Given the description of an element on the screen output the (x, y) to click on. 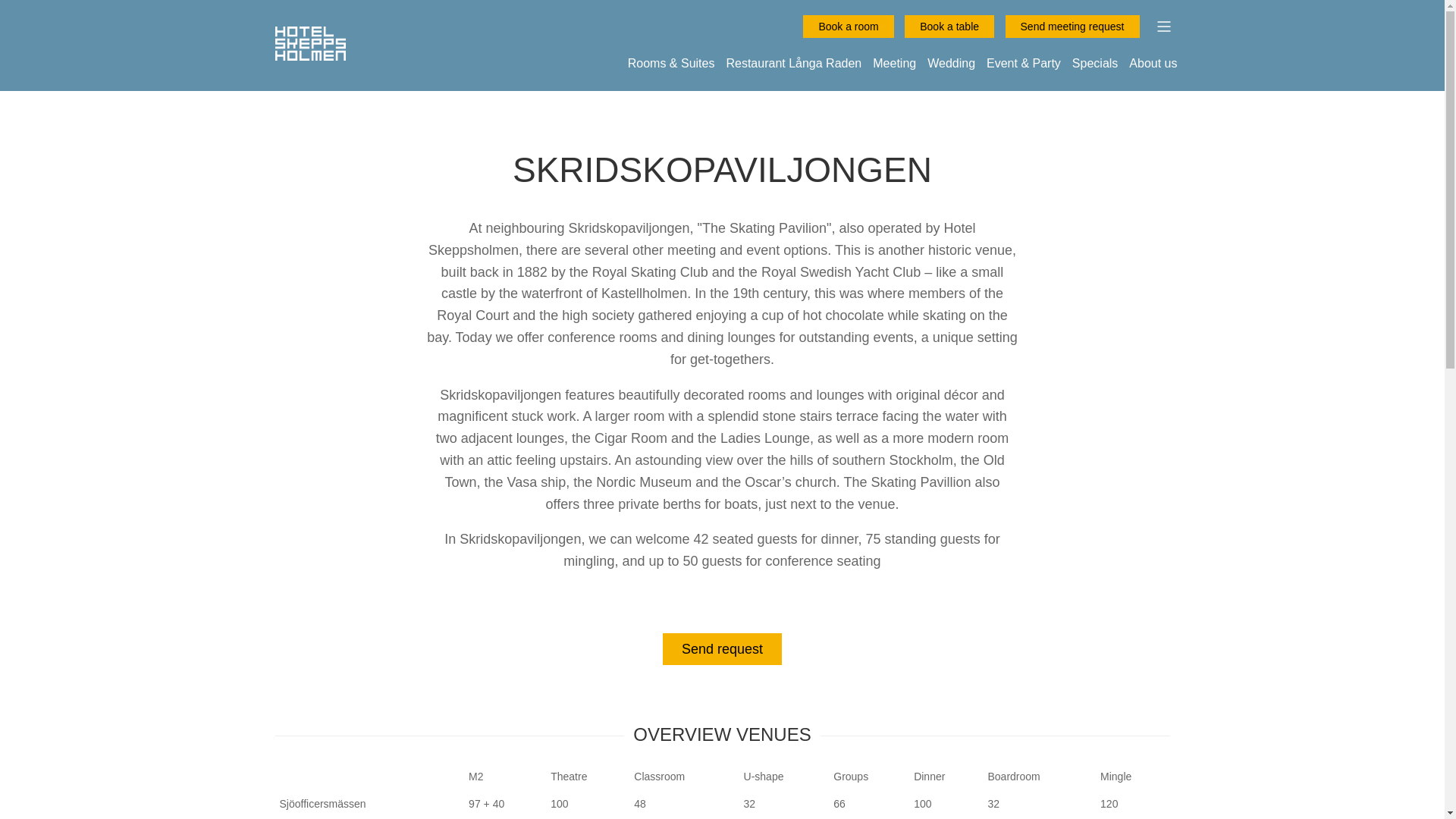
Meeting (893, 62)
Wedding (951, 62)
Book a table (949, 26)
Send meeting request (1073, 26)
Specials (1094, 62)
About us (1152, 62)
Send request (721, 649)
Book a room (848, 26)
